Given the description of an element on the screen output the (x, y) to click on. 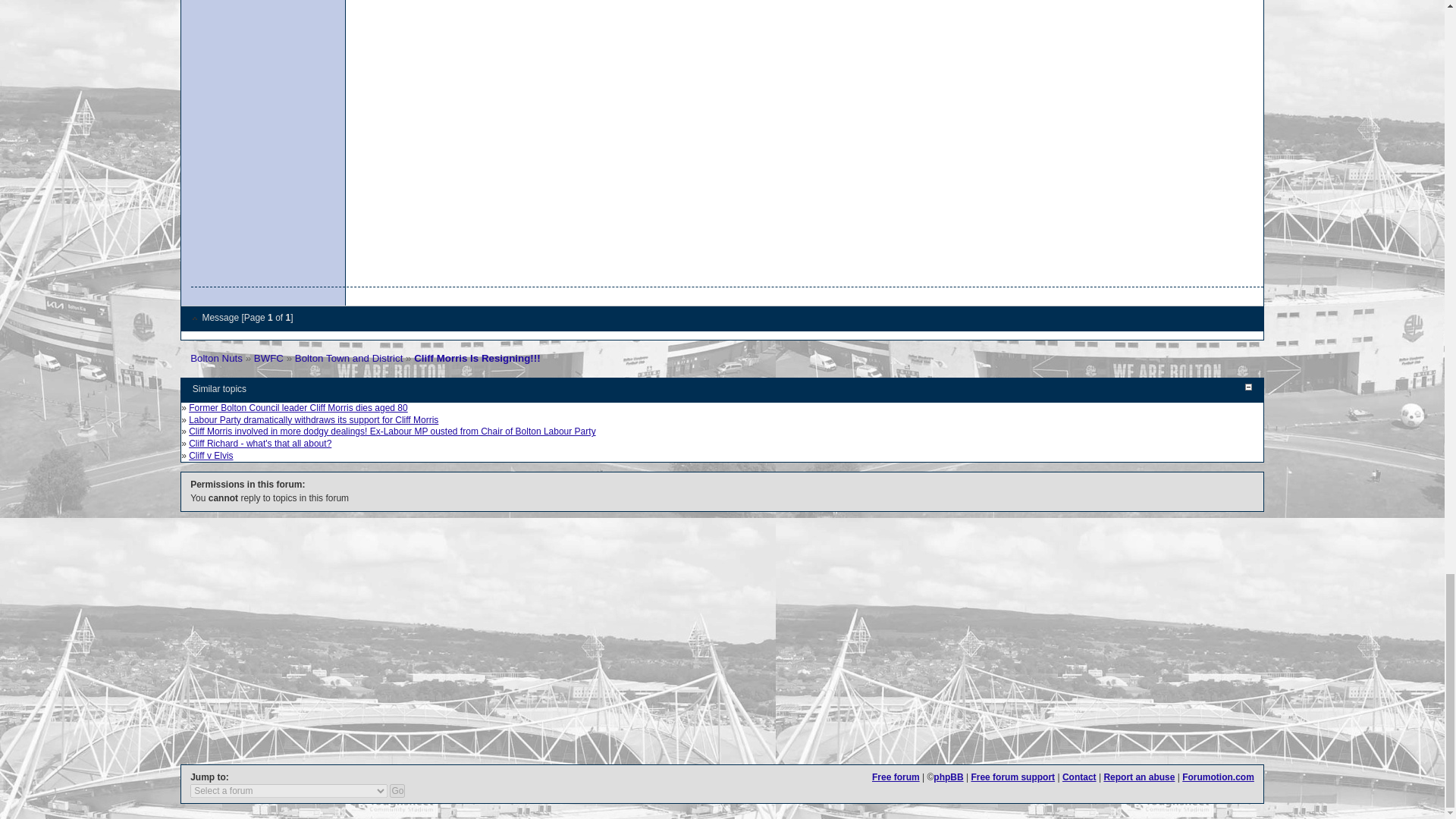
Cliff Morris Is Resigning!!! (476, 357)
Bolton Nuts (216, 357)
Go (397, 790)
Former Bolton Council leader Cliff Morris dies aged 80 (298, 407)
Former Bolton Council leader Cliff Morris dies aged 80 (298, 407)
BWFC (268, 357)
Bolton Town and District (349, 357)
Cliff v Elvis (210, 455)
Cliff Richard - what's that all about? (260, 443)
